Given the description of an element on the screen output the (x, y) to click on. 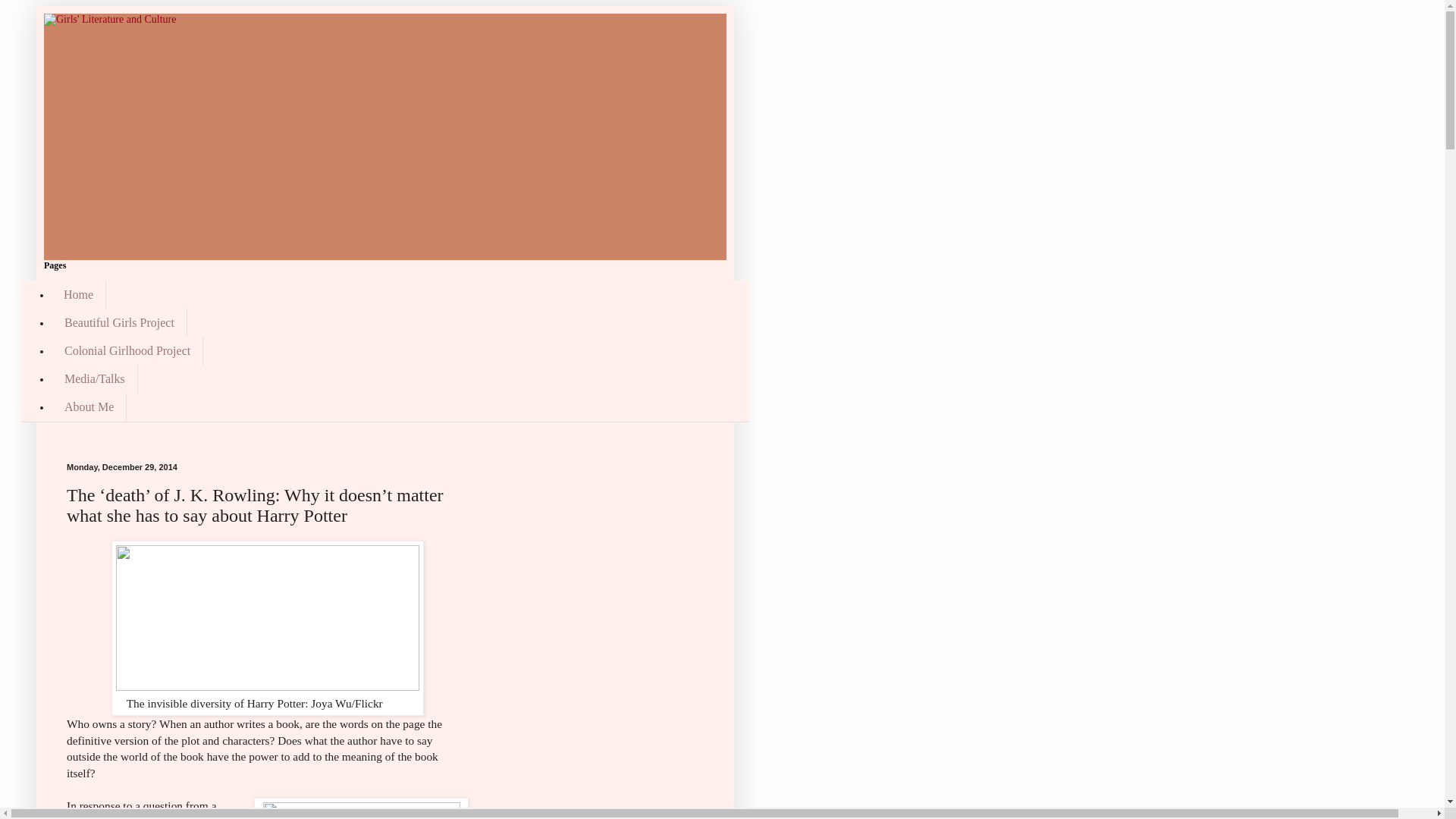
recently explained (145, 816)
About Me (88, 407)
Colonial Girlhood Project (126, 350)
Beautiful Girls Project (118, 322)
Home (78, 294)
